Given the description of an element on the screen output the (x, y) to click on. 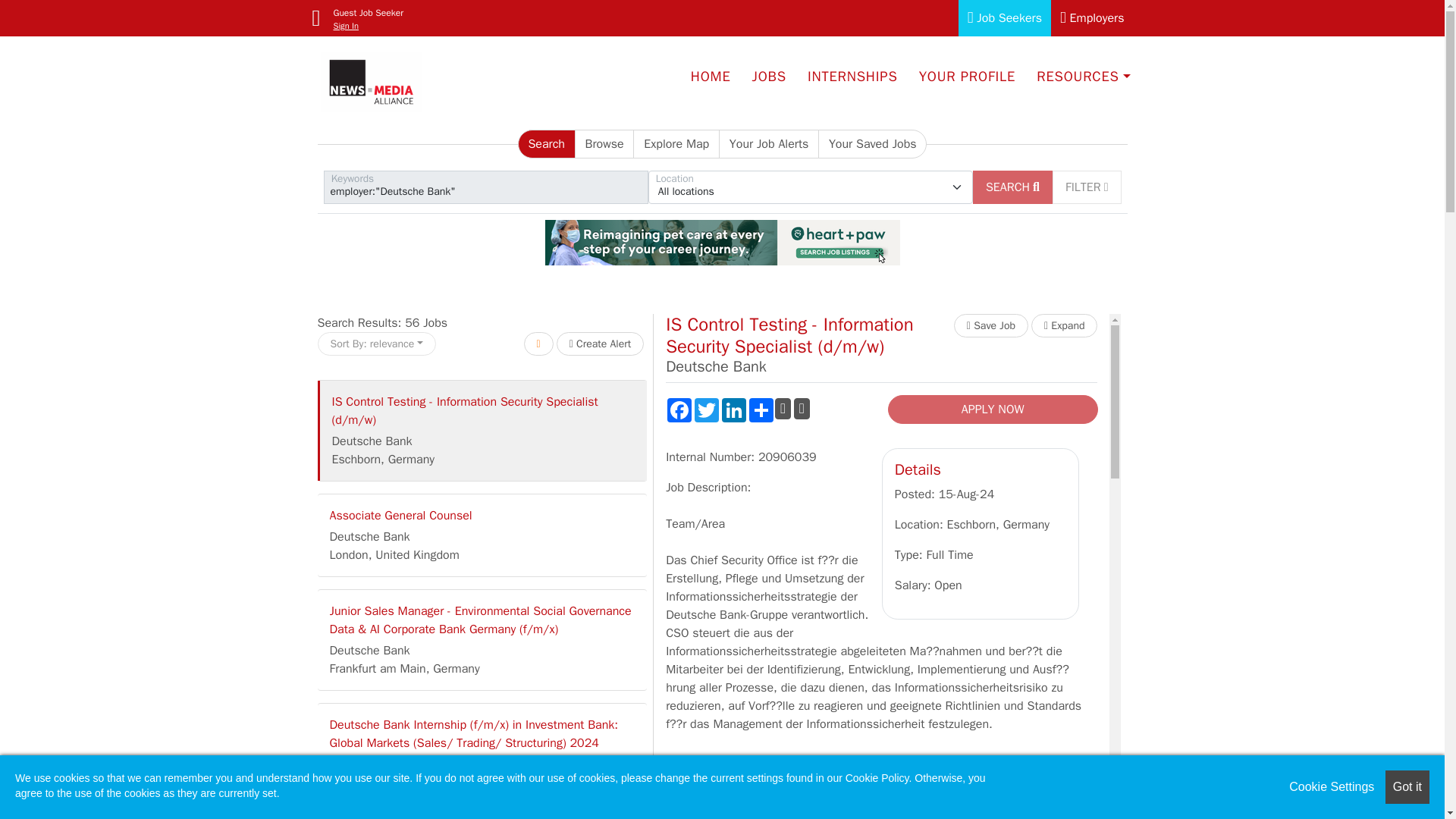
Explore Map (676, 143)
None selected (809, 186)
RESOURCES (1082, 76)
All locations (809, 186)
Employers (1092, 18)
Browse (604, 143)
Browse (604, 143)
Search (546, 143)
Job Seekers (1004, 18)
Your Job Alerts (768, 143)
